Given the description of an element on the screen output the (x, y) to click on. 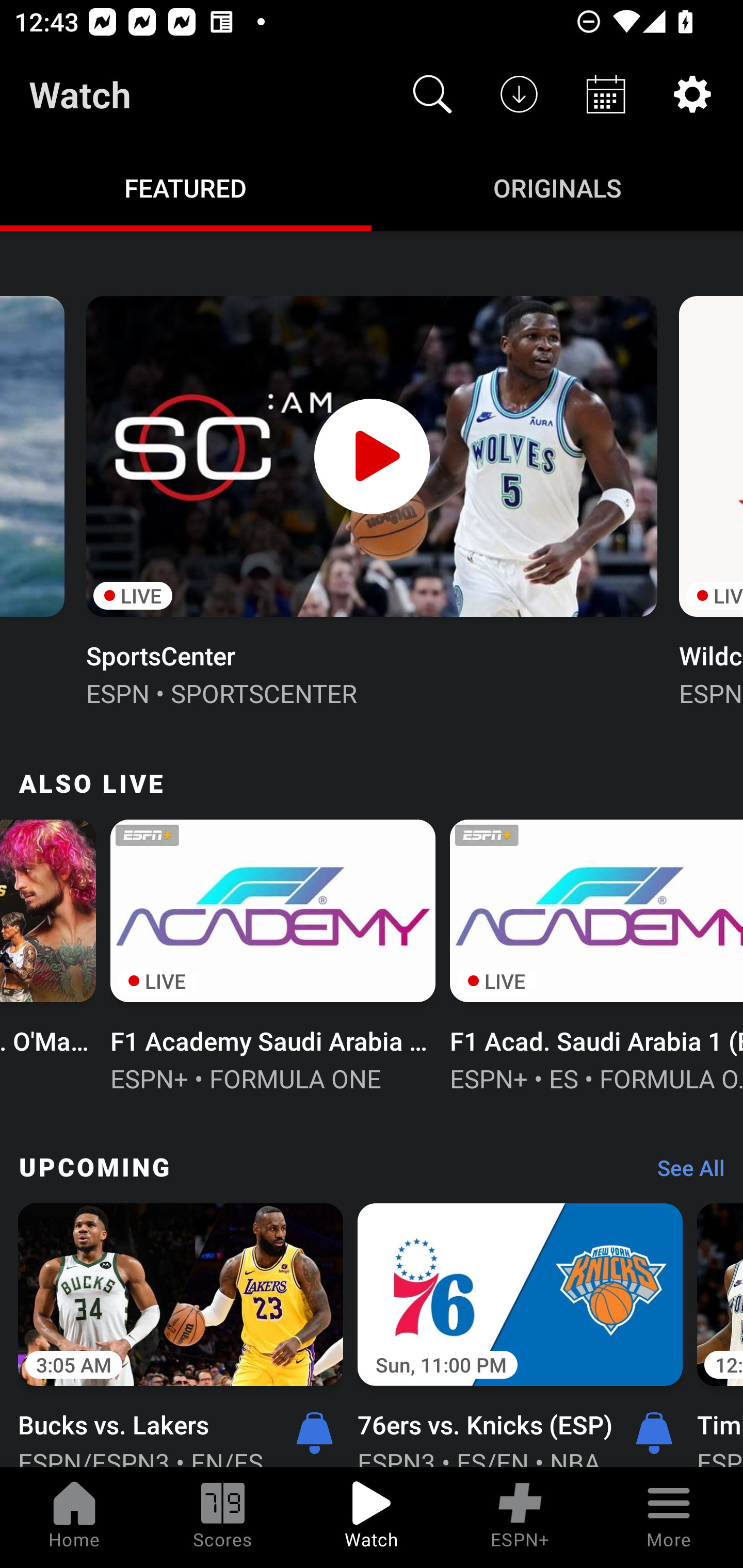
Search (432, 93)
Downloads (518, 93)
Schedule (605, 93)
Settings (692, 93)
Originals ORIGINALS (557, 187)
 LIVE SportsCenter ESPN • SPORTSCENTER (371, 499)
See All (683, 1172)
Home (74, 1517)
Scores (222, 1517)
ESPN+ (519, 1517)
More (668, 1517)
